Given the description of an element on the screen output the (x, y) to click on. 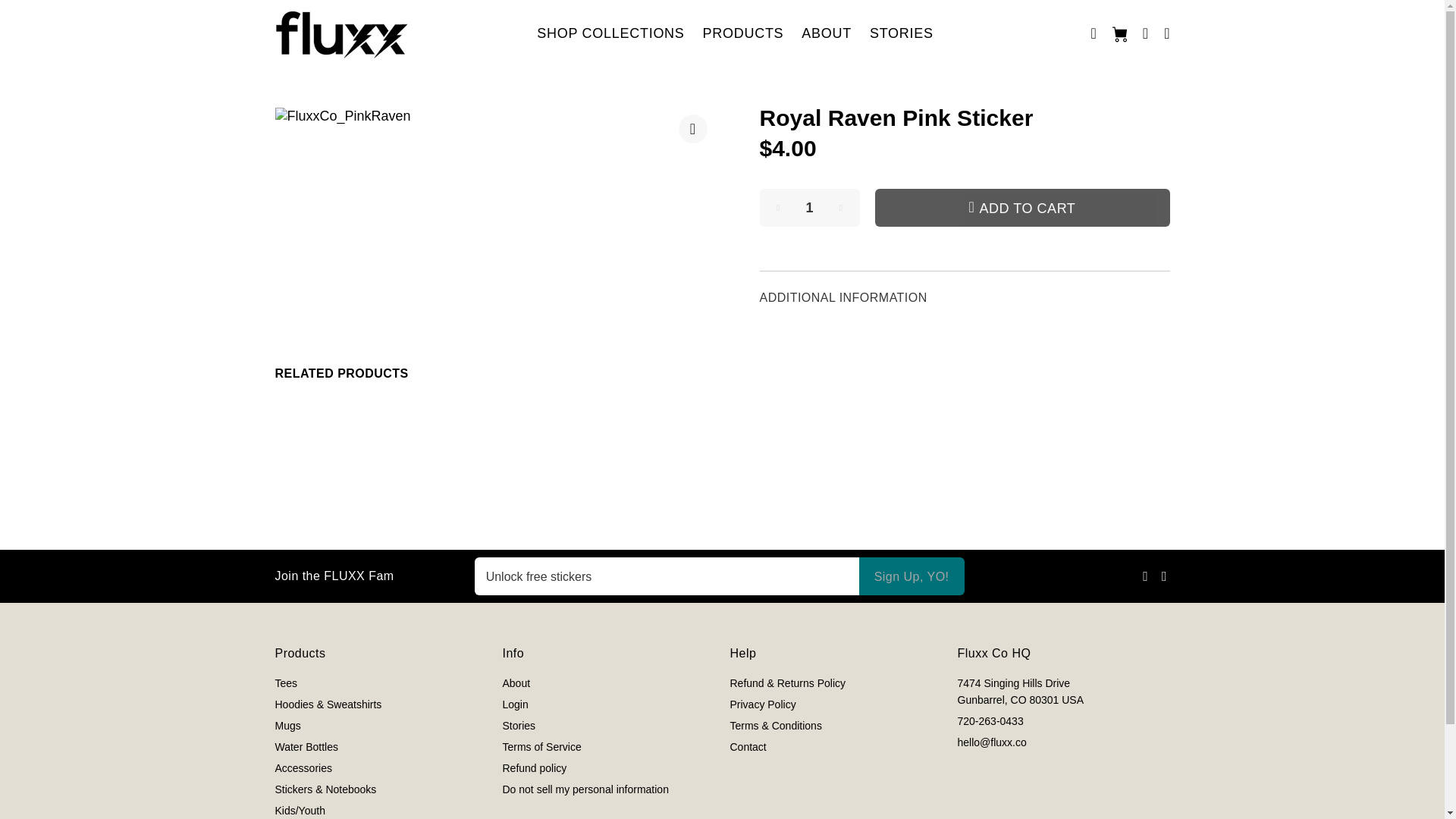
View 1 sticker (760, 500)
View Red Raven Pocket Notebooks 2-Pack (380, 430)
View Royal Raven Black Holo Sticker (377, 500)
View Bike Birdy Bolts Pocket Notebooks 2-Pack (608, 424)
View Royal Raven Stickers 3-Pack (1050, 417)
View Royal Raven Silver Holo Sticker (604, 500)
SHOP COLLECTIONS (610, 33)
1 (810, 207)
View Art Mousepads (780, 417)
